Given the description of an element on the screen output the (x, y) to click on. 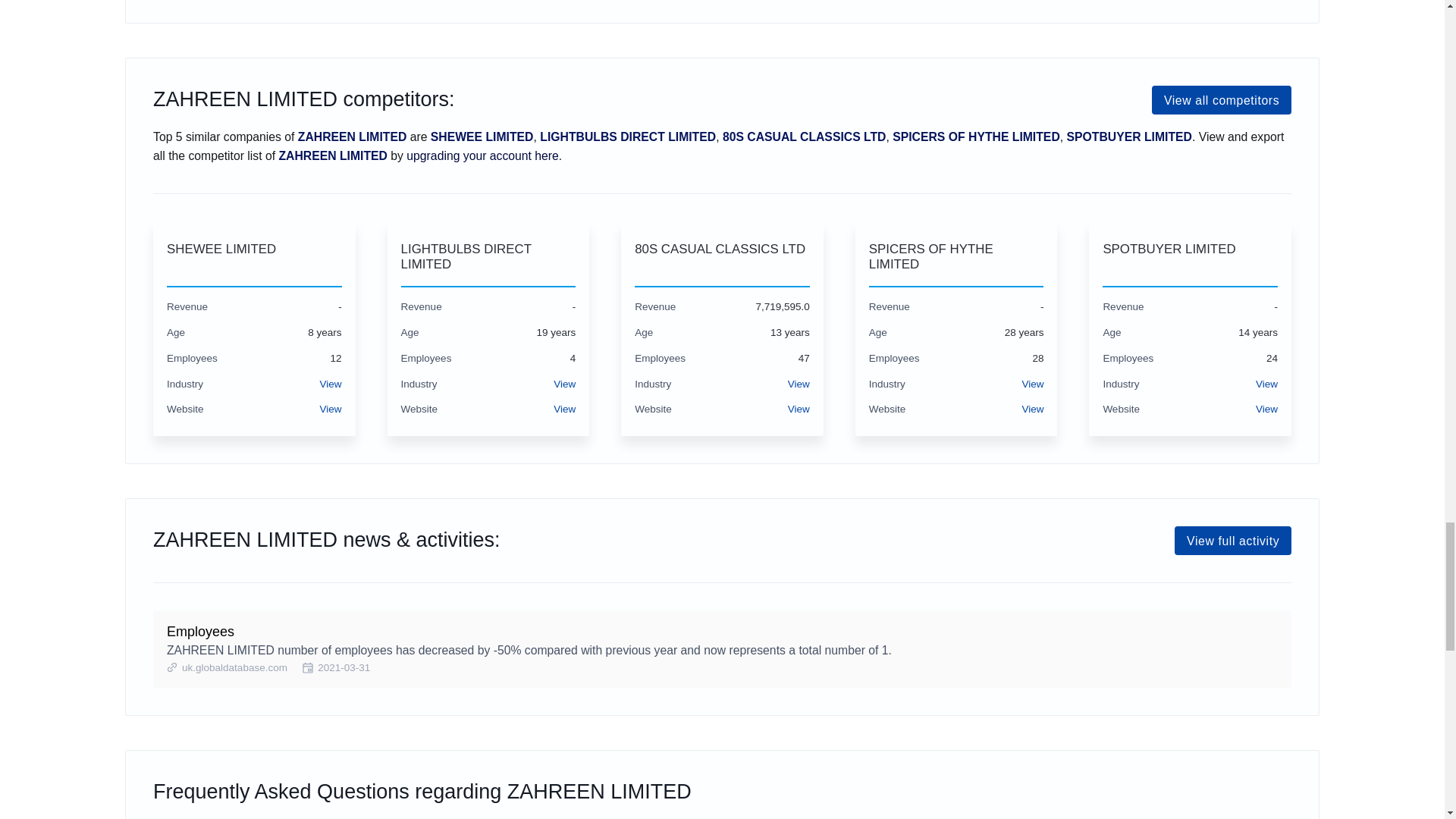
SPOTBUYER LIMITED (1190, 256)
SHEWEE LIMITED (254, 256)
80S CASUAL CLASSICS LTD (721, 256)
SPICERS OF HYTHE LIMITED (956, 256)
LIGHTBULBS DIRECT LIMITED (488, 256)
